Given the description of an element on the screen output the (x, y) to click on. 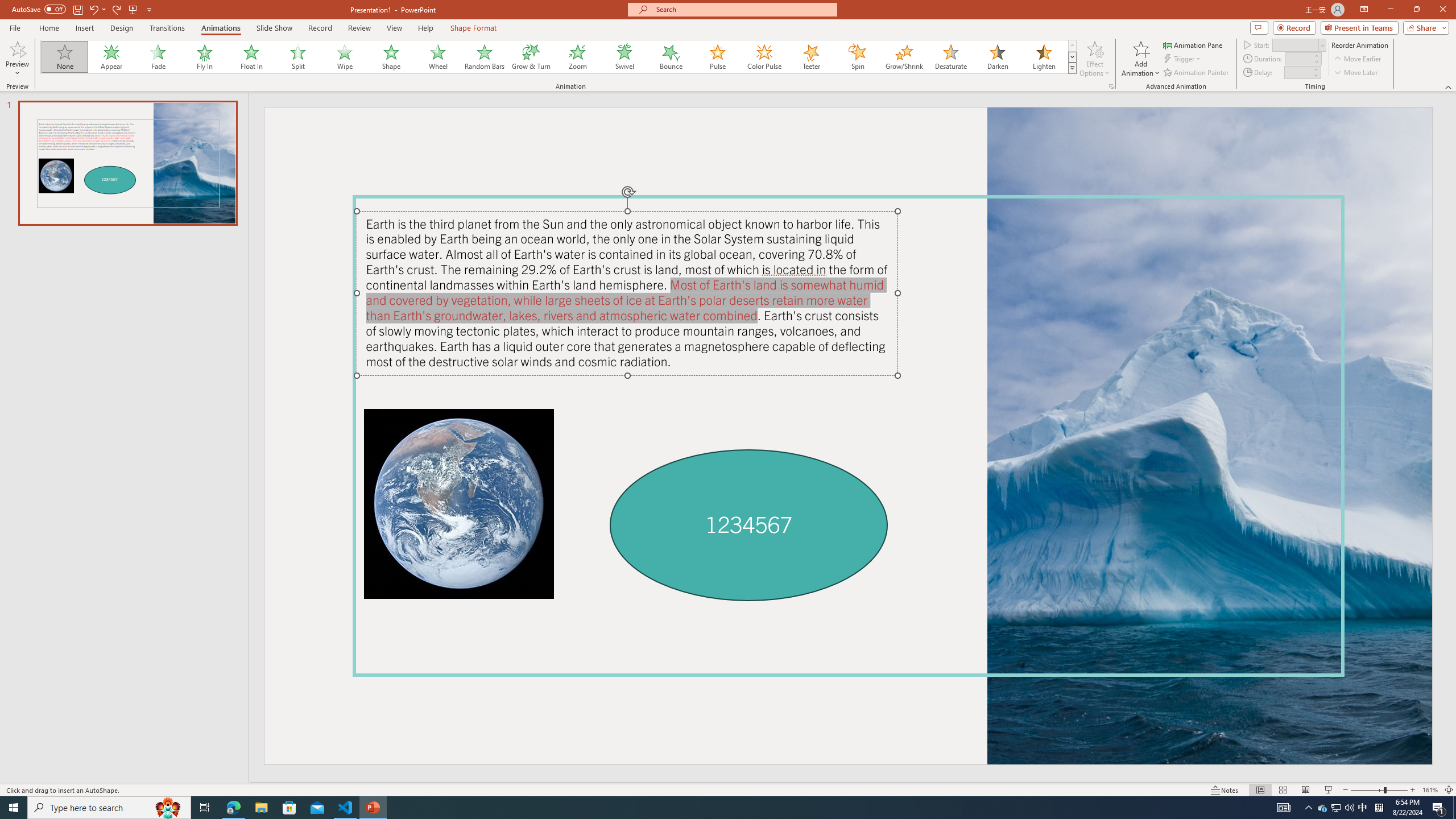
Grow/Shrink (903, 56)
Spin (857, 56)
AutomationID: AnimationGallery (558, 56)
Animation Painter (1196, 72)
Fly In (205, 56)
